Given the description of an element on the screen output the (x, y) to click on. 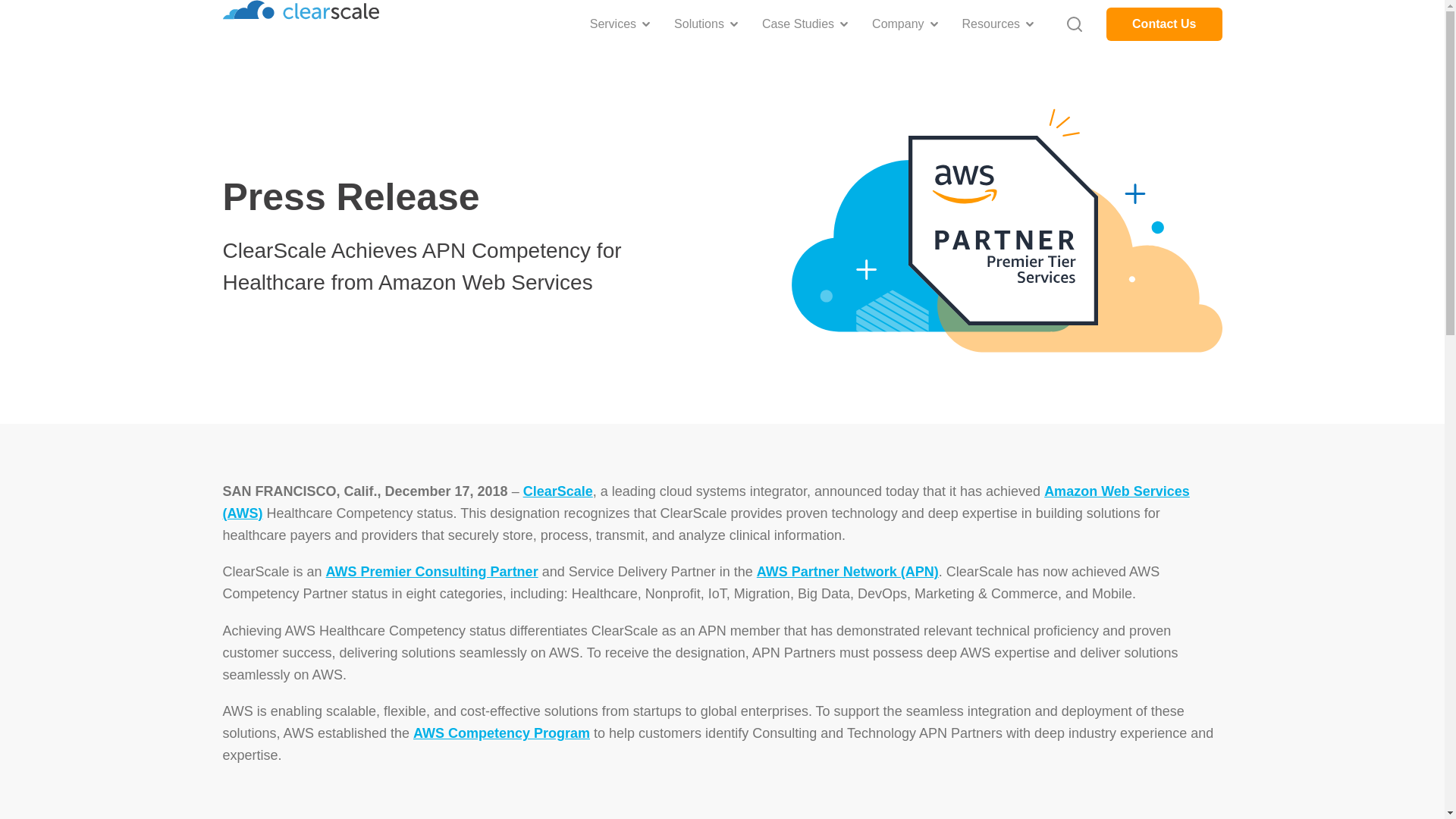
Case Studies (797, 24)
Services (612, 24)
